Given the description of an element on the screen output the (x, y) to click on. 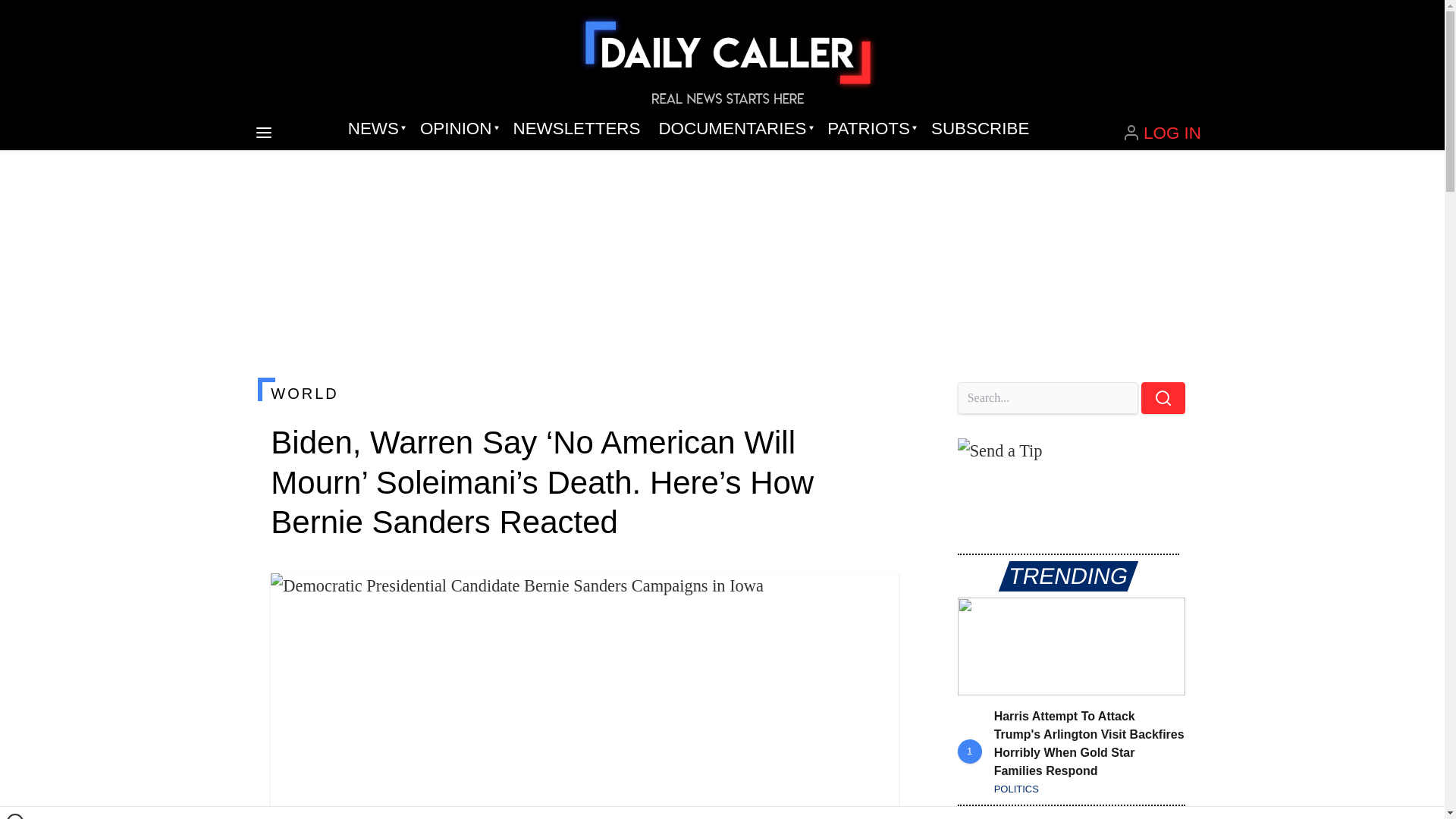
NEWS (374, 128)
SUBSCRIBE (979, 128)
OPINION (456, 128)
PATRIOTS (869, 128)
NEWSLETTERS (576, 128)
DOCUMENTARIES (733, 128)
WORLD (584, 393)
Close window (14, 816)
